Given the description of an element on the screen output the (x, y) to click on. 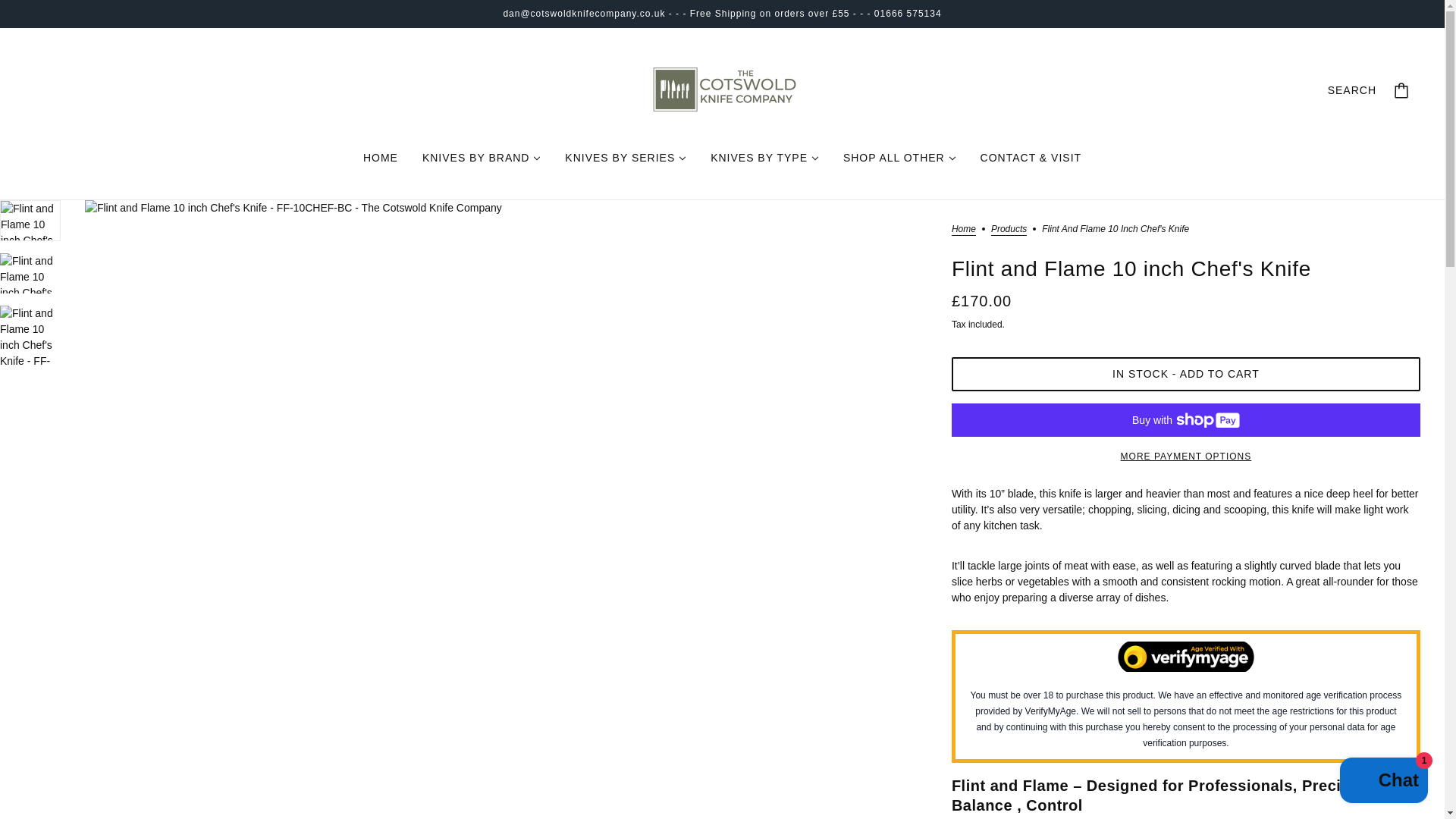
SEARCH (1351, 89)
The Cotswold Knife Company (721, 89)
HOME (380, 157)
KNIVES BY BRAND  (481, 157)
Shopify online store chat (1383, 781)
KNIVES BY SERIES  (625, 157)
